Given the description of an element on the screen output the (x, y) to click on. 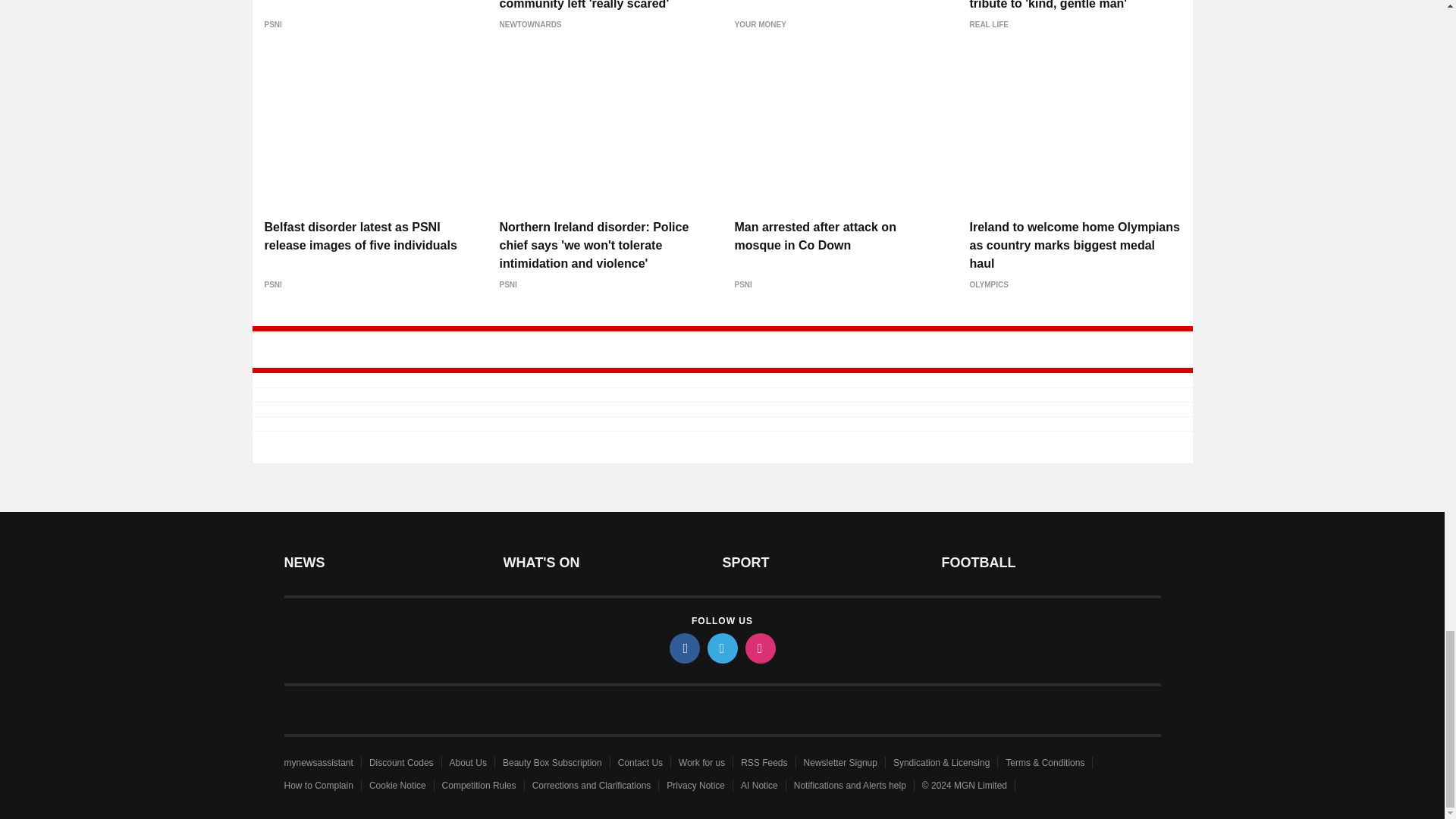
facebook (683, 648)
instagram (759, 648)
twitter (721, 648)
